Given the description of an element on the screen output the (x, y) to click on. 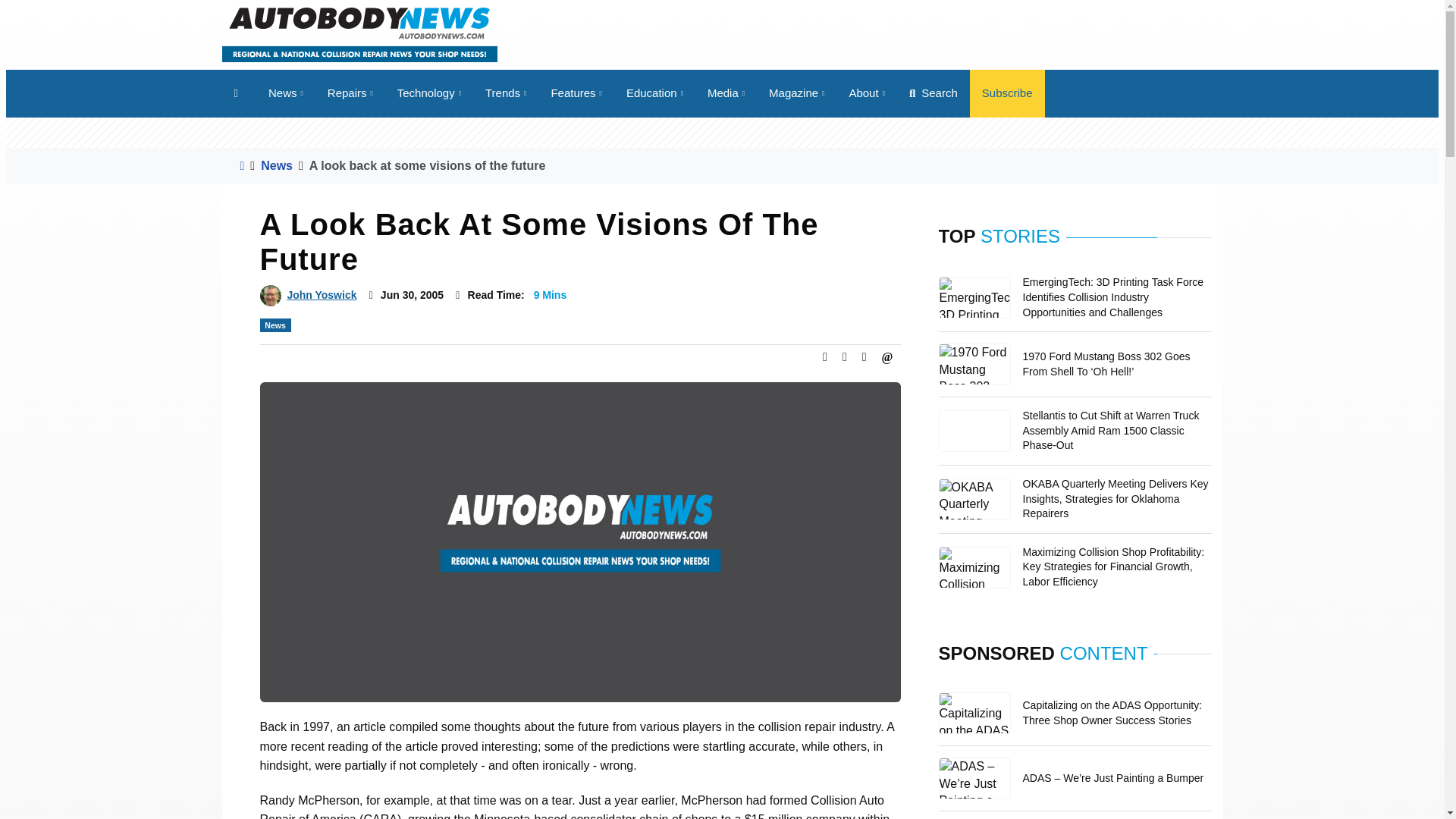
Trends (505, 93)
Features (576, 93)
Repairs (350, 93)
Technology (429, 93)
Autobody News (358, 33)
News (285, 93)
